Given the description of an element on the screen output the (x, y) to click on. 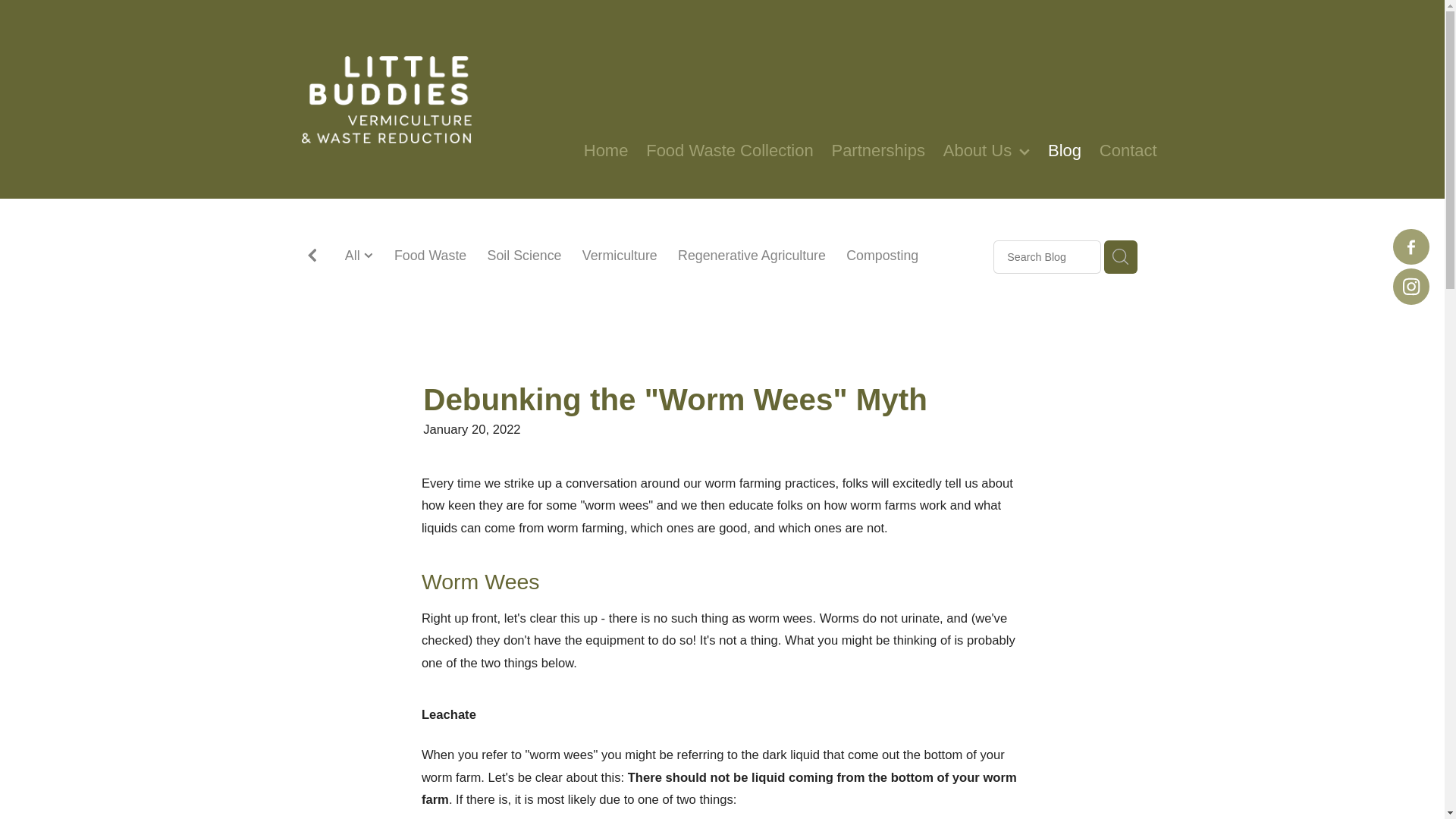
Contact (1128, 150)
A link to this website's Facebook. (1411, 247)
A link to this website's Instagram. (1411, 286)
Food Waste Collection (729, 150)
Vermicast (593, 277)
Home Composting (401, 277)
Partnership (923, 277)
Partnerships (878, 150)
Composting (881, 255)
Vermiculture (620, 255)
About Us (986, 150)
Home Gardening (694, 277)
Soil Health (510, 277)
Waste Reduction (818, 277)
Blog (1064, 150)
